Given the description of an element on the screen output the (x, y) to click on. 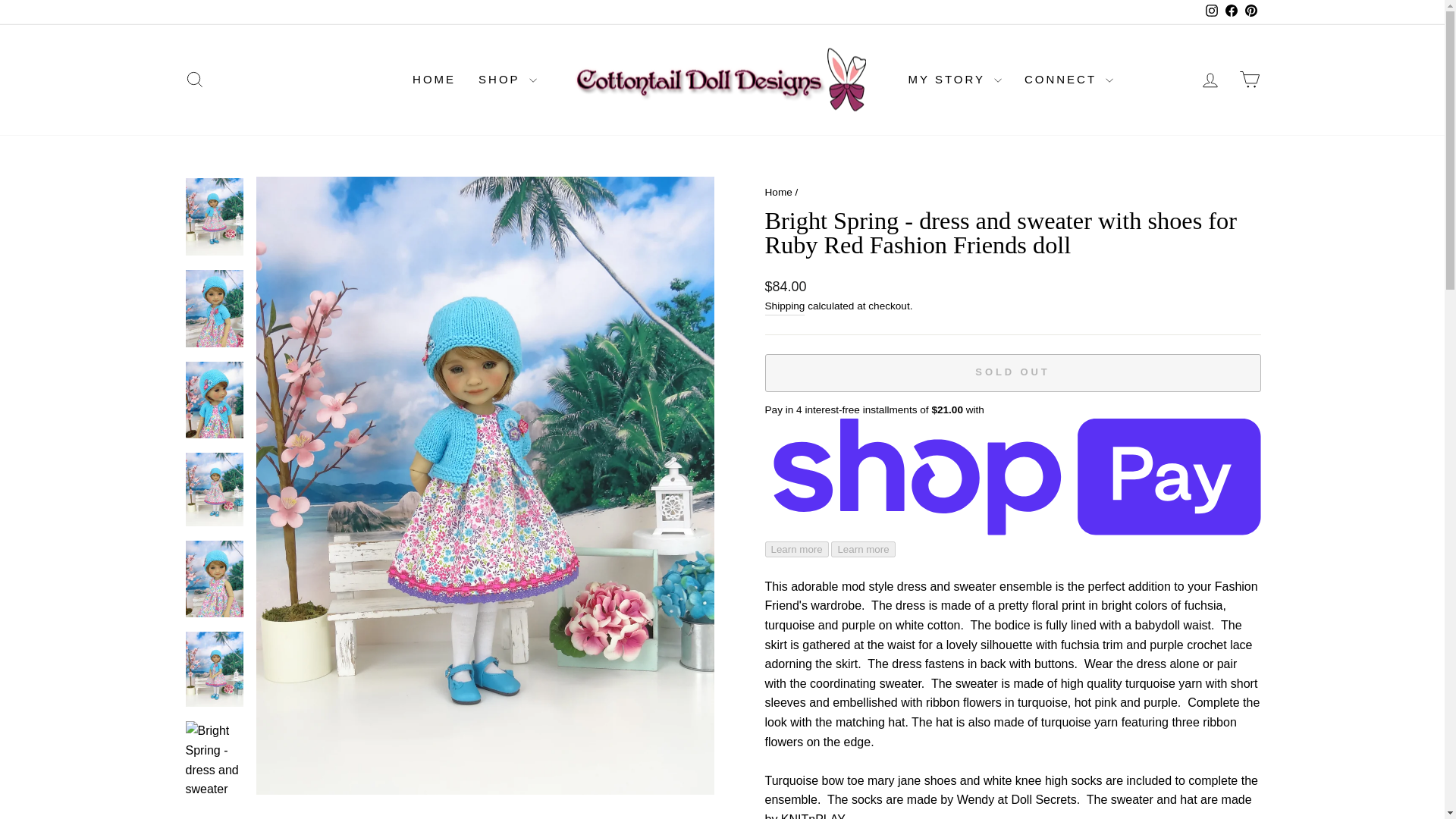
ICON-SEARCH (194, 79)
Back to the frontpage (778, 192)
ACCOUNT (1210, 79)
instagram (1211, 10)
